Given the description of an element on the screen output the (x, y) to click on. 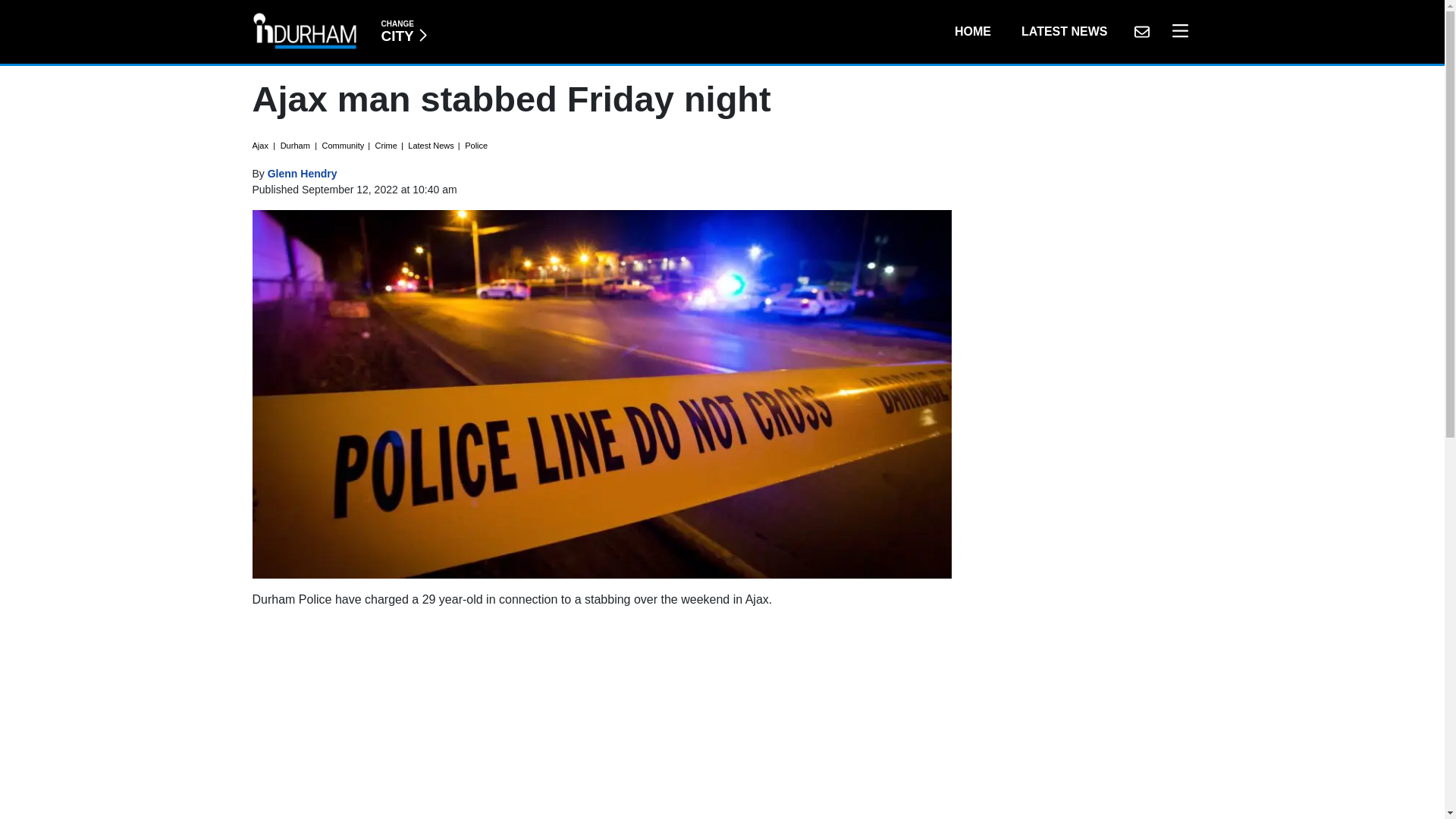
HOME (972, 31)
OPEN MENU (1176, 31)
Posts by 946 (302, 173)
SIGN UP FOR OUR NEWSLETTER (1141, 31)
LATEST NEWS (402, 31)
3rd party ad content (1064, 31)
